Given the description of an element on the screen output the (x, y) to click on. 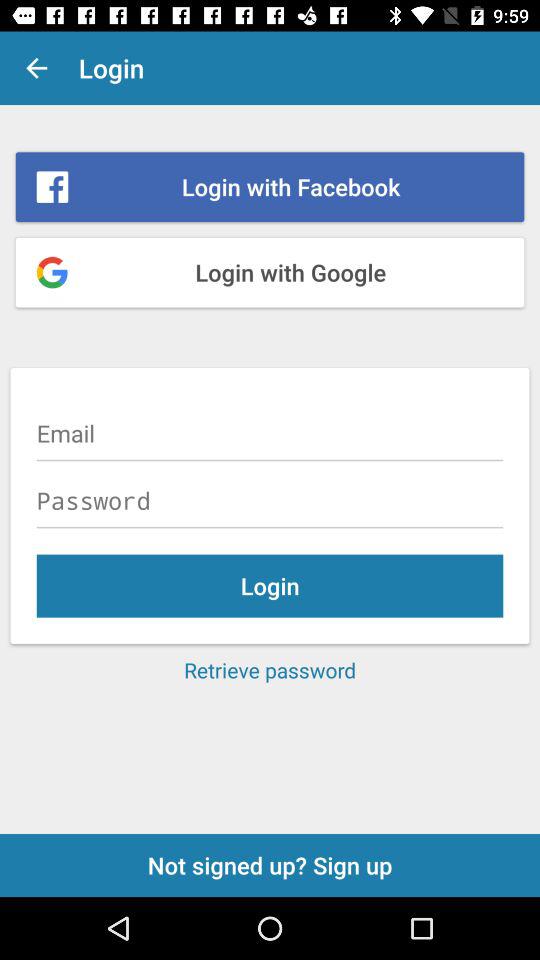
scroll to the retrieve password item (269, 669)
